Given the description of an element on the screen output the (x, y) to click on. 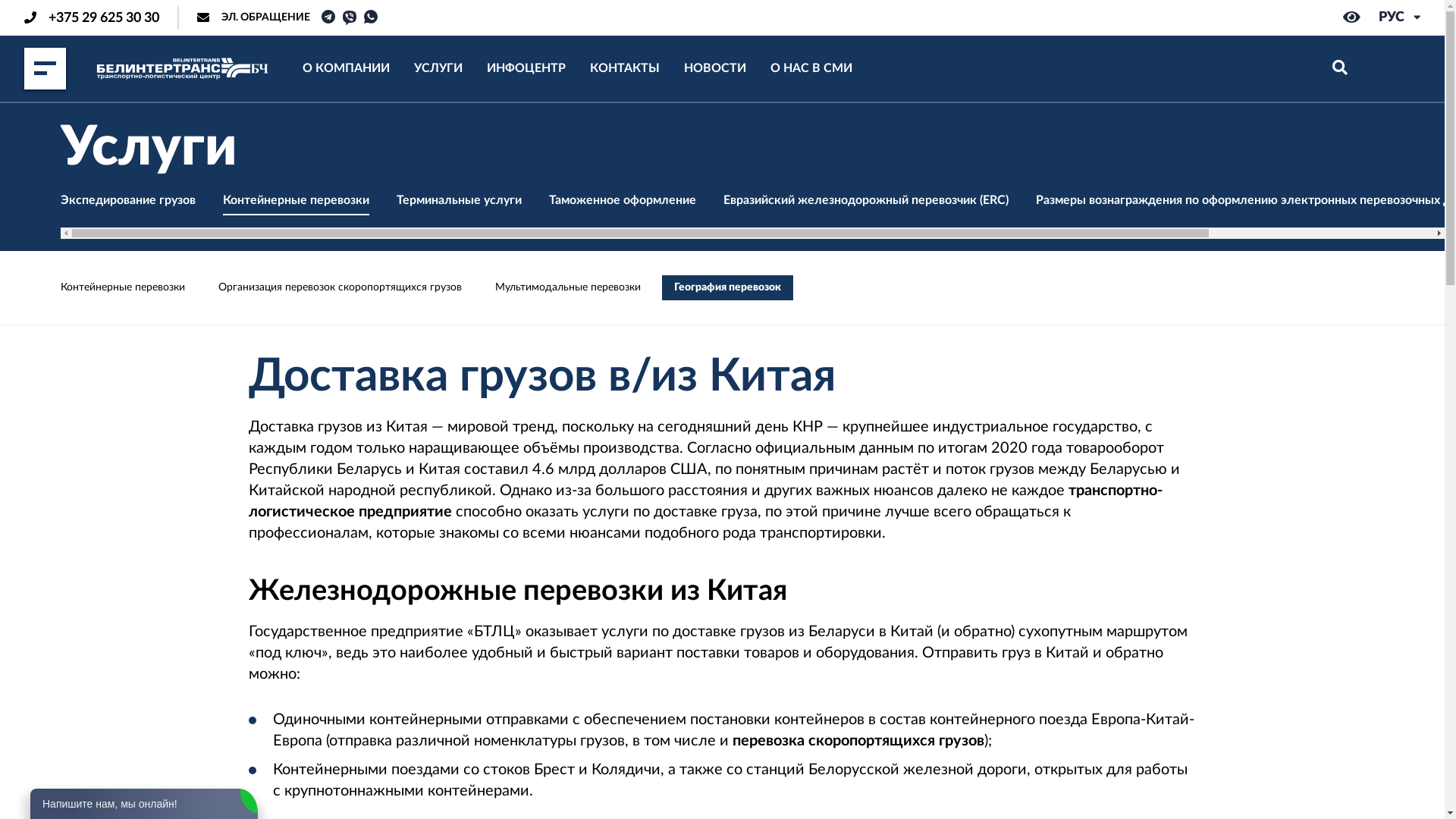
+375 29 625 30 30 Element type: text (91, 17)
